Given the description of an element on the screen output the (x, y) to click on. 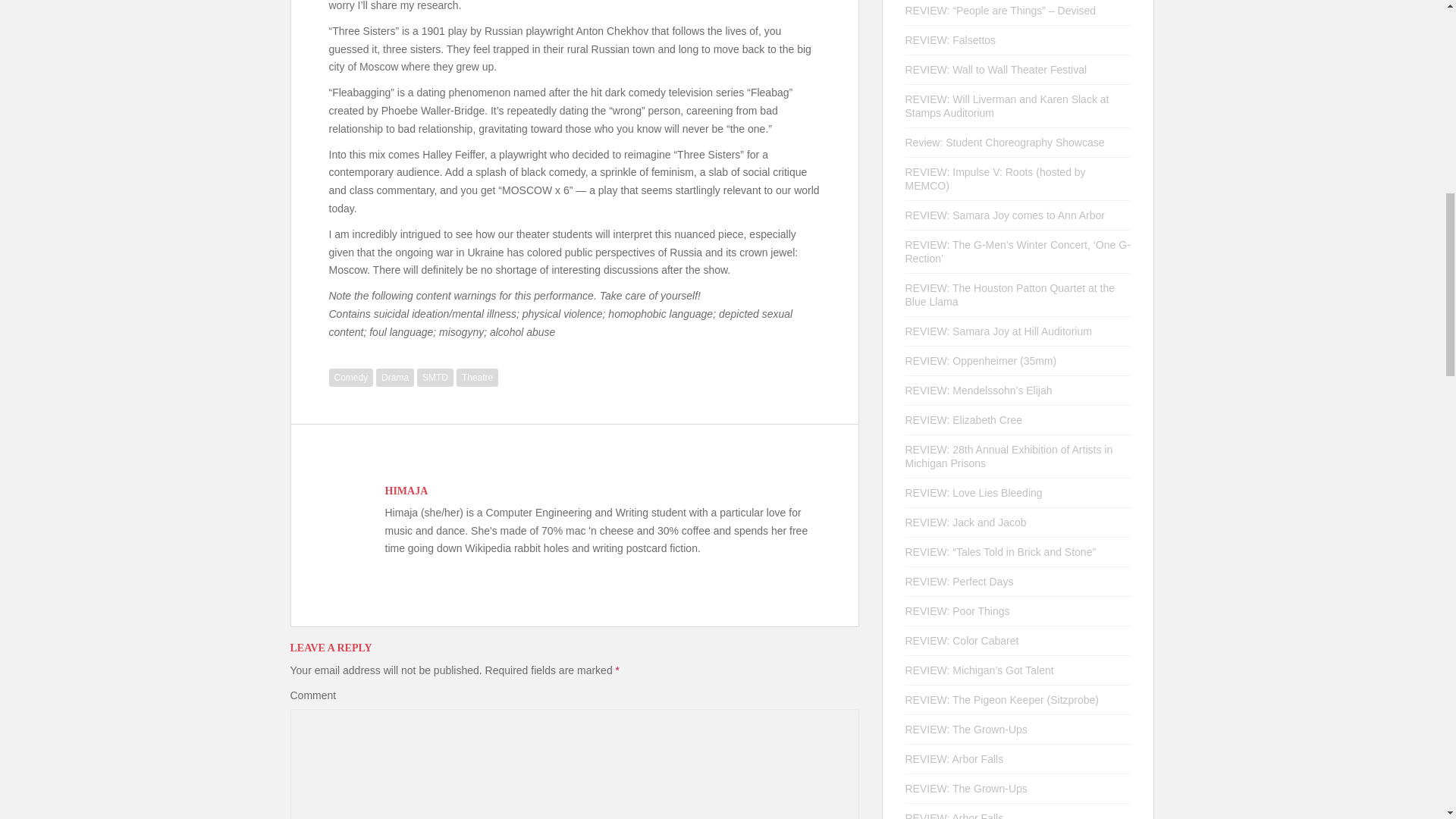
Drama (394, 377)
HIMAJA (406, 490)
Comedy (351, 377)
SMTD (434, 377)
Theatre (477, 377)
